Given the description of an element on the screen output the (x, y) to click on. 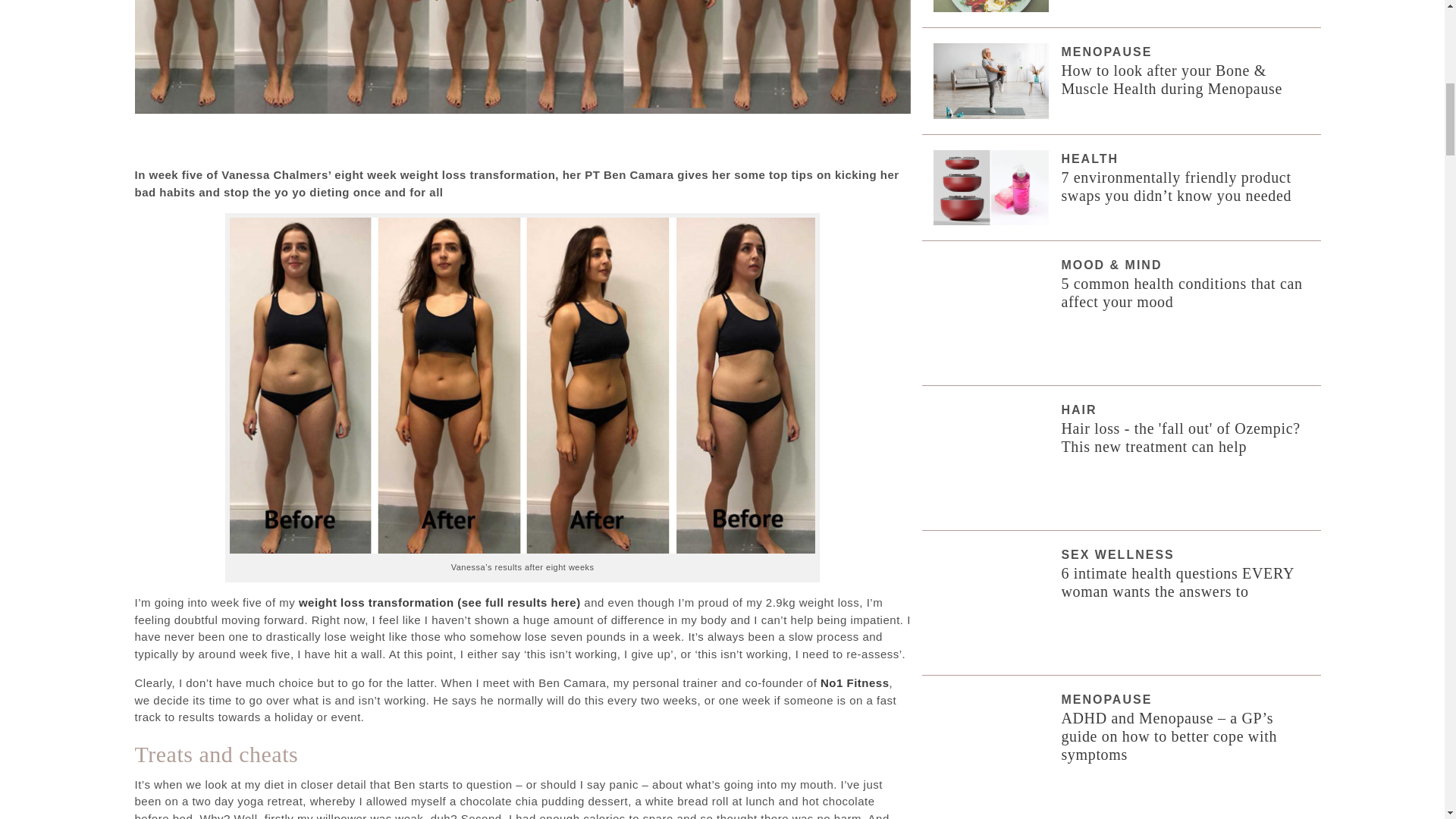
No1 Fitness (855, 682)
